Given the description of an element on the screen output the (x, y) to click on. 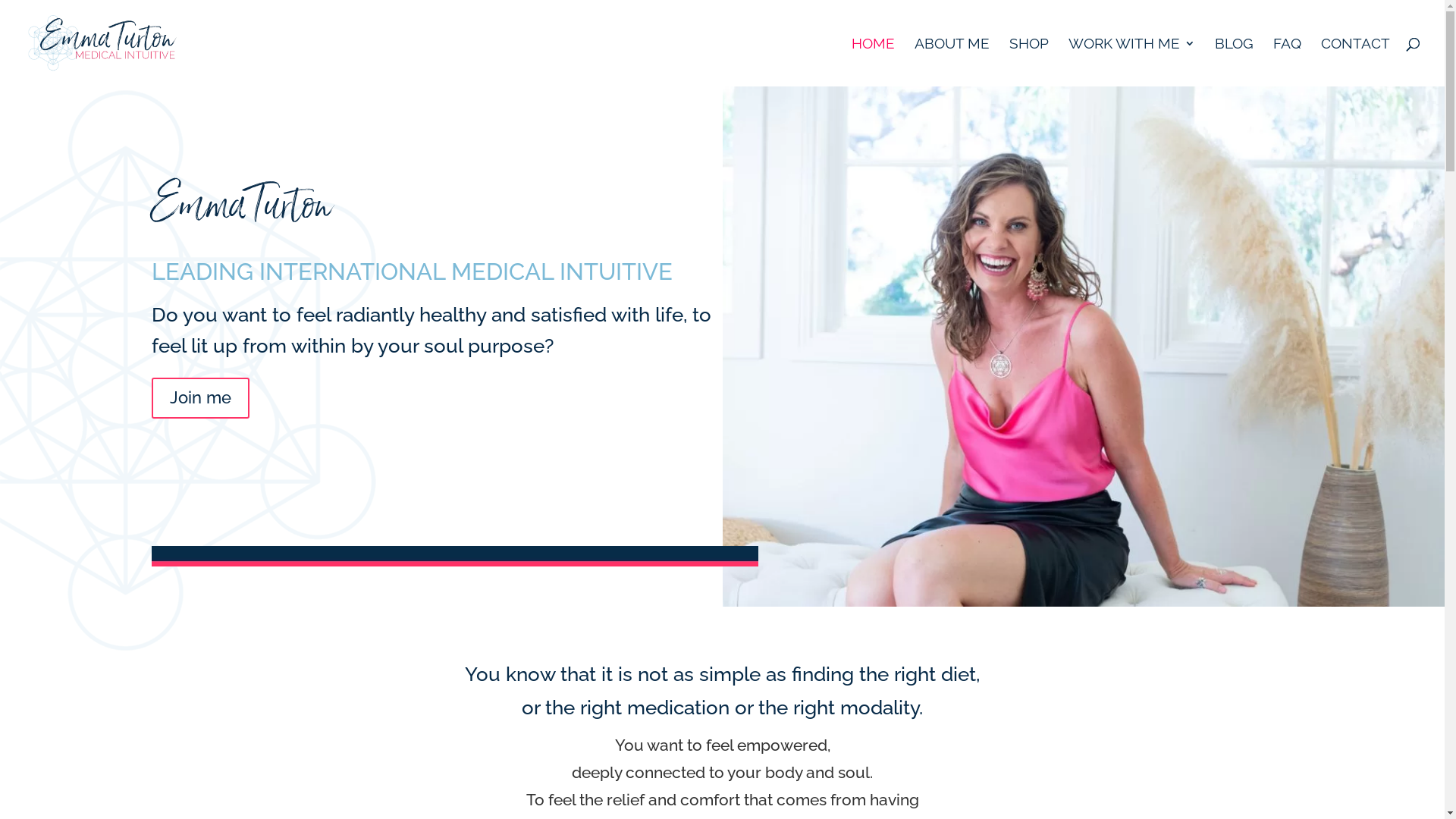
CONTACT Element type: text (1355, 61)
ABOUT ME Element type: text (951, 61)
HOME Element type: text (872, 61)
stripe strip Element type: hover (454, 556)
FAQ Element type: text (1287, 61)
WORK WITH ME Element type: text (1131, 61)
Emma Turton medical intuitive and teacher 1800px Element type: hover (1082, 346)
Join me Element type: text (200, 398)
SHOP Element type: text (1028, 61)
BLOG Element type: text (1233, 61)
